Given the description of an element on the screen output the (x, y) to click on. 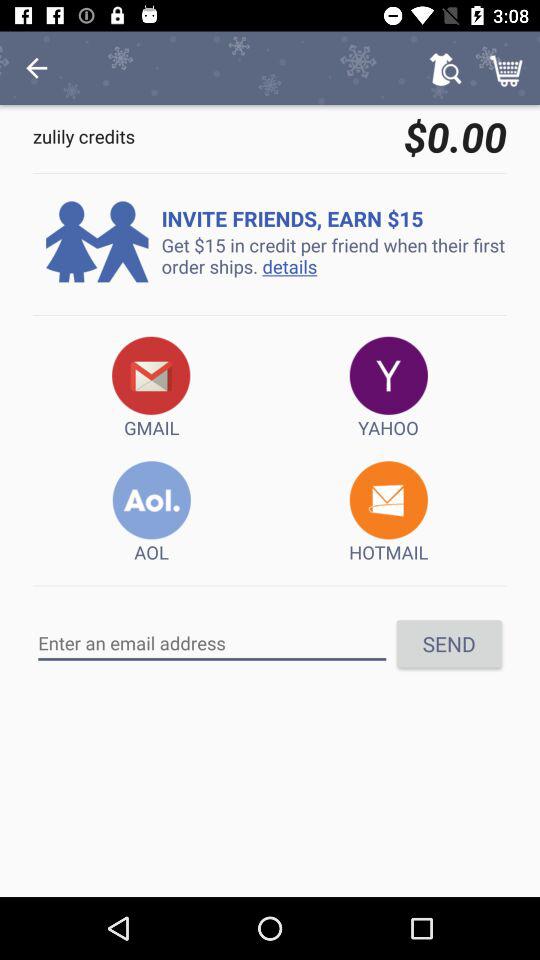
click the item to the right of aol icon (388, 512)
